Given the description of an element on the screen output the (x, y) to click on. 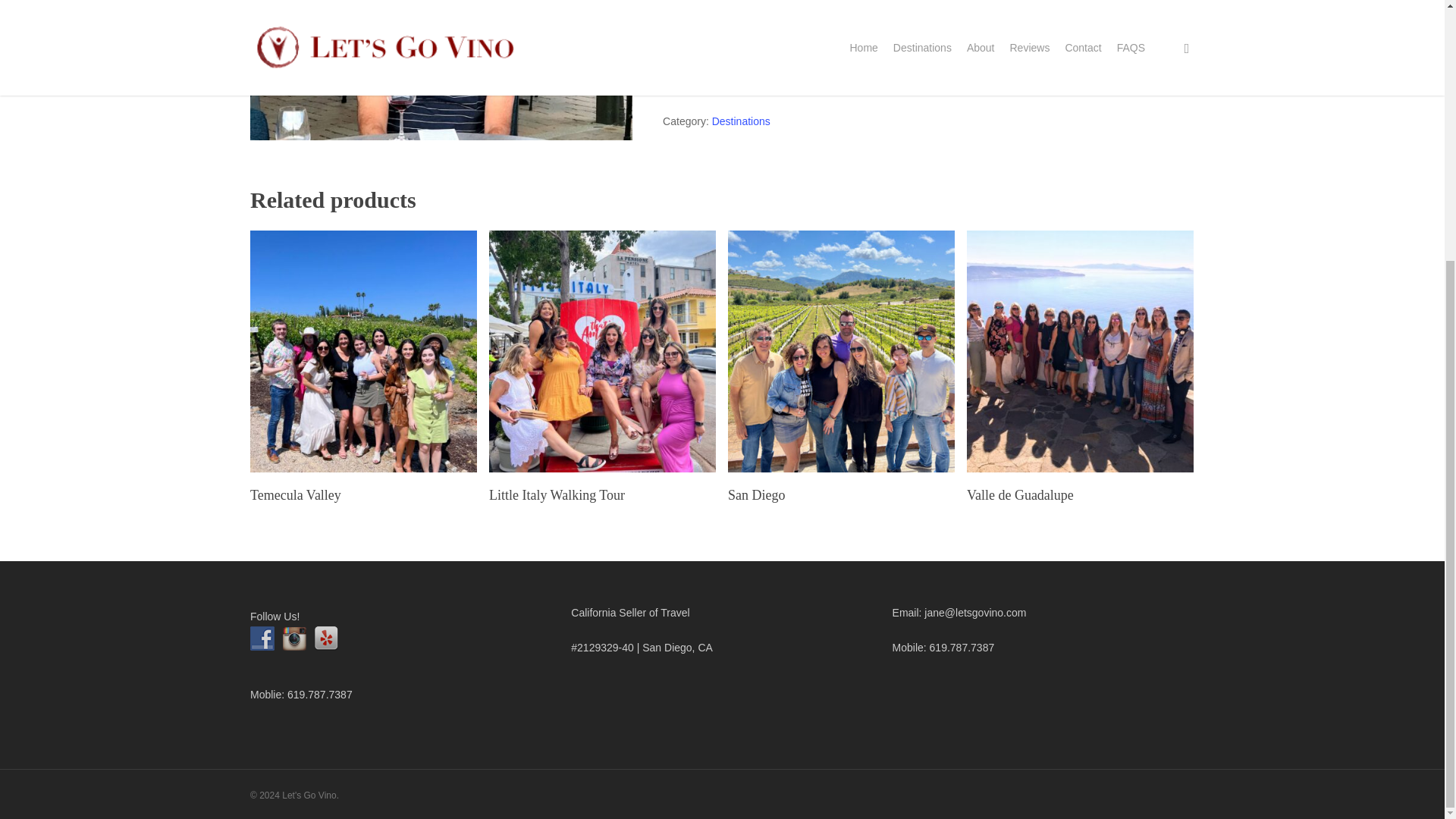
Follow Us on Facebook (262, 638)
Follow Us on Instagram (293, 638)
Follow Us on Yelp (325, 638)
Destinations (740, 120)
